Given the description of an element on the screen output the (x, y) to click on. 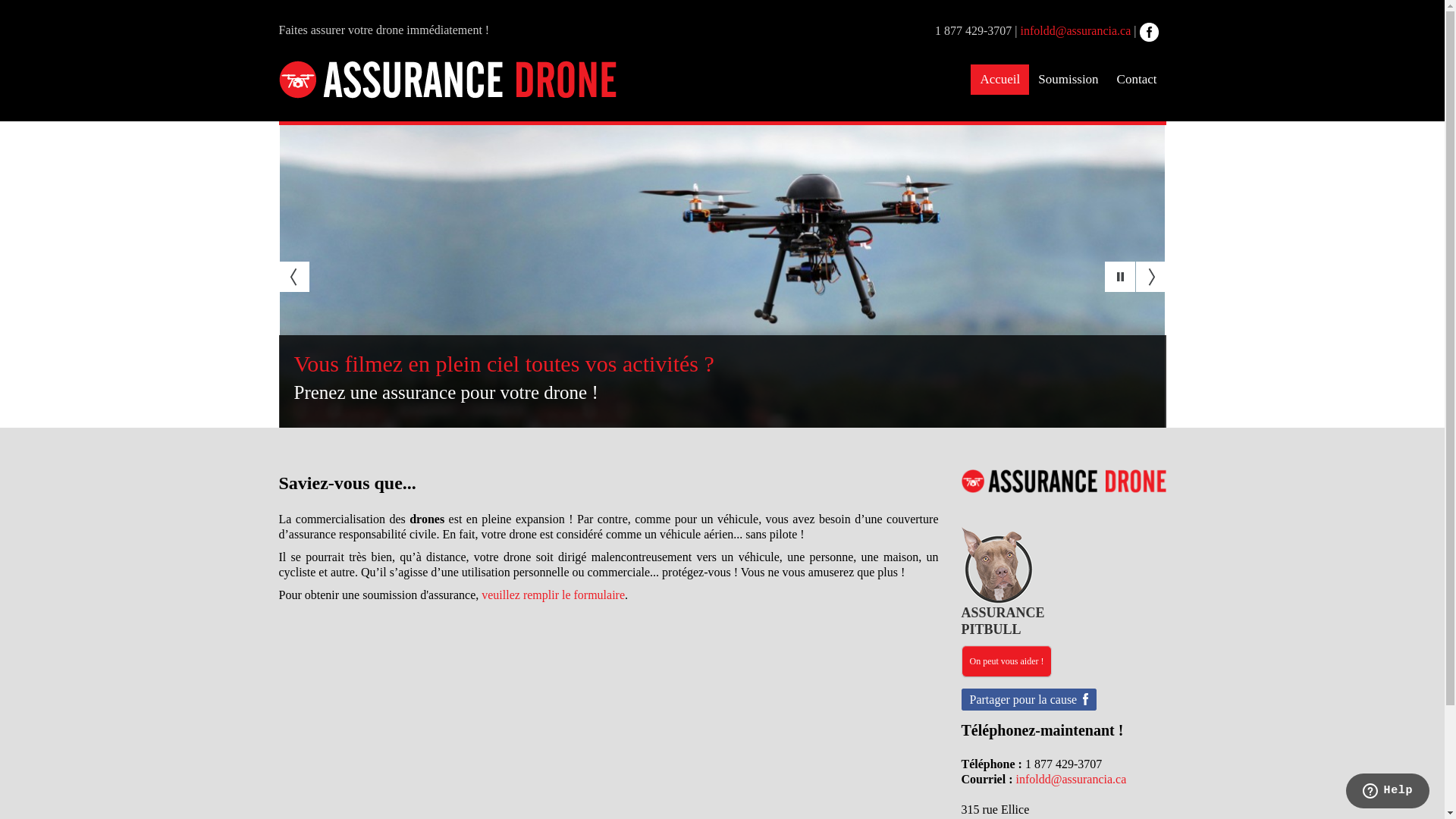
infoldd@assurancia.ca Element type: text (1070, 778)
On peut vous aider ! Element type: text (1006, 661)
Soumission Element type: text (1068, 79)
veuillez remplir le formulaire Element type: text (552, 594)
Contact Element type: text (1136, 79)
Opens a widget where you can chat to one of our agents Element type: hover (1387, 792)
Partager pour la cause Element type: text (1029, 699)
Accueil Element type: text (999, 79)
infoldd@assurancia.ca Element type: text (1075, 30)
